Given the description of an element on the screen output the (x, y) to click on. 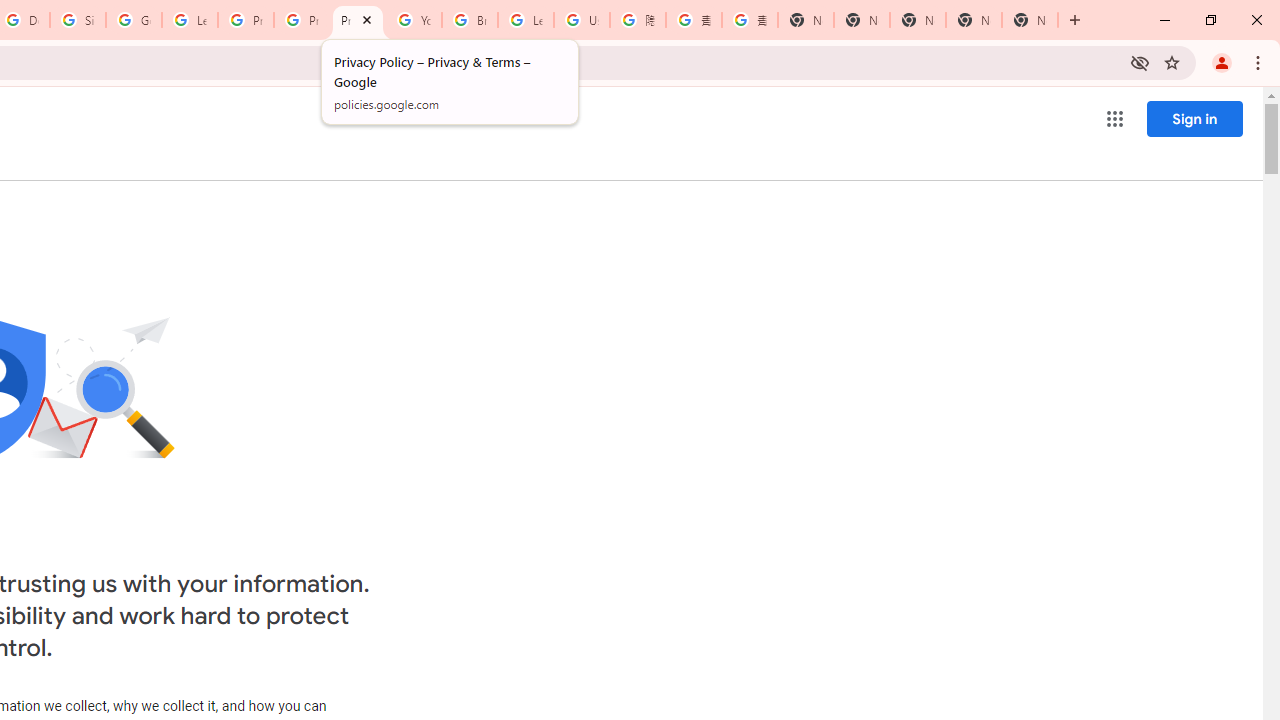
New Tab (806, 20)
